Given the description of an element on the screen output the (x, y) to click on. 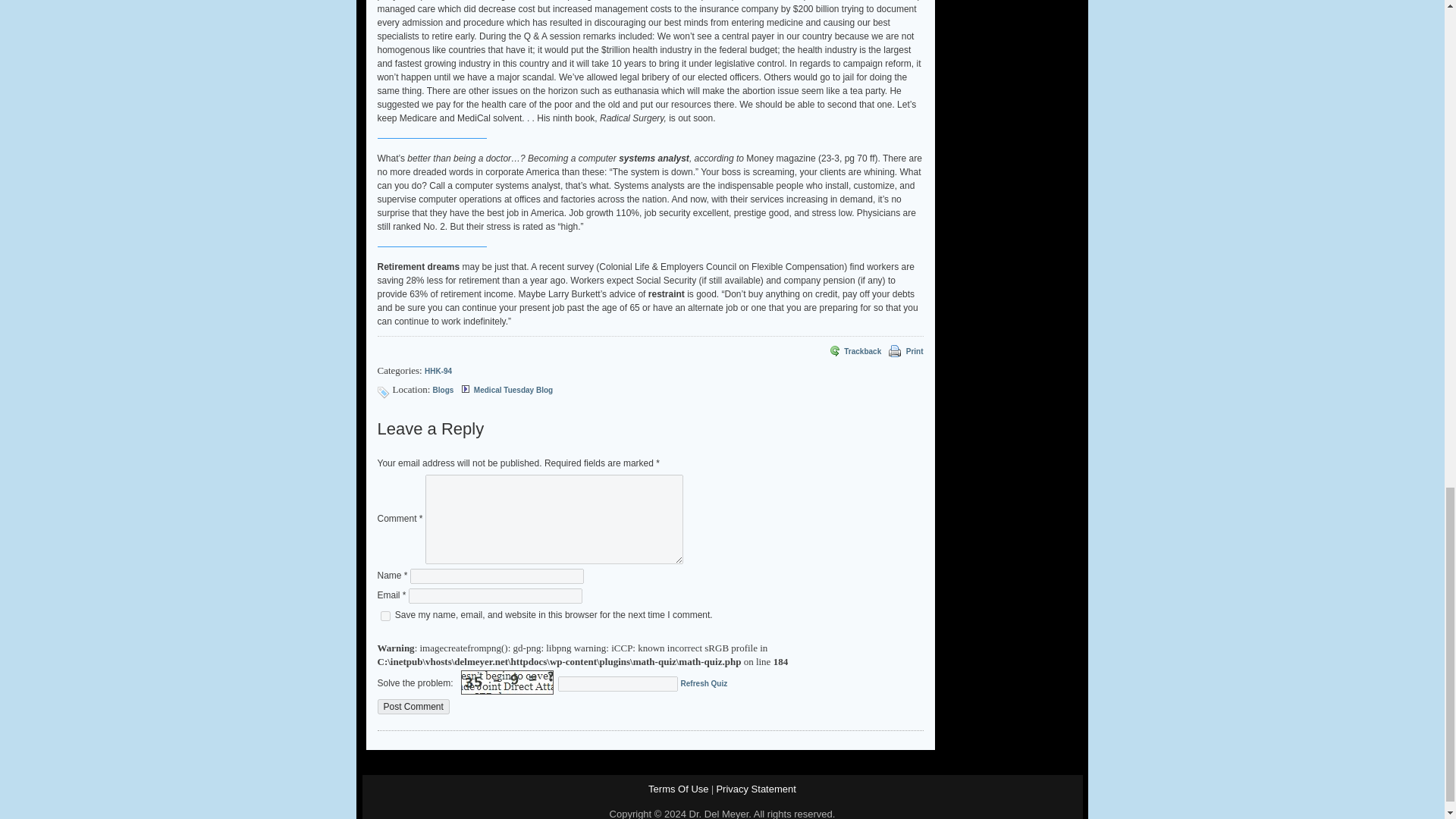
HHK-94 (438, 370)
Trackback (854, 351)
Print (894, 350)
Print (892, 351)
Print (914, 351)
yes (385, 615)
Post Comment (413, 706)
Medical Tuesday Blog (513, 389)
Refresh Quiz (704, 683)
Post Comment (413, 706)
Blogs (443, 389)
Print (914, 351)
